Given the description of an element on the screen output the (x, y) to click on. 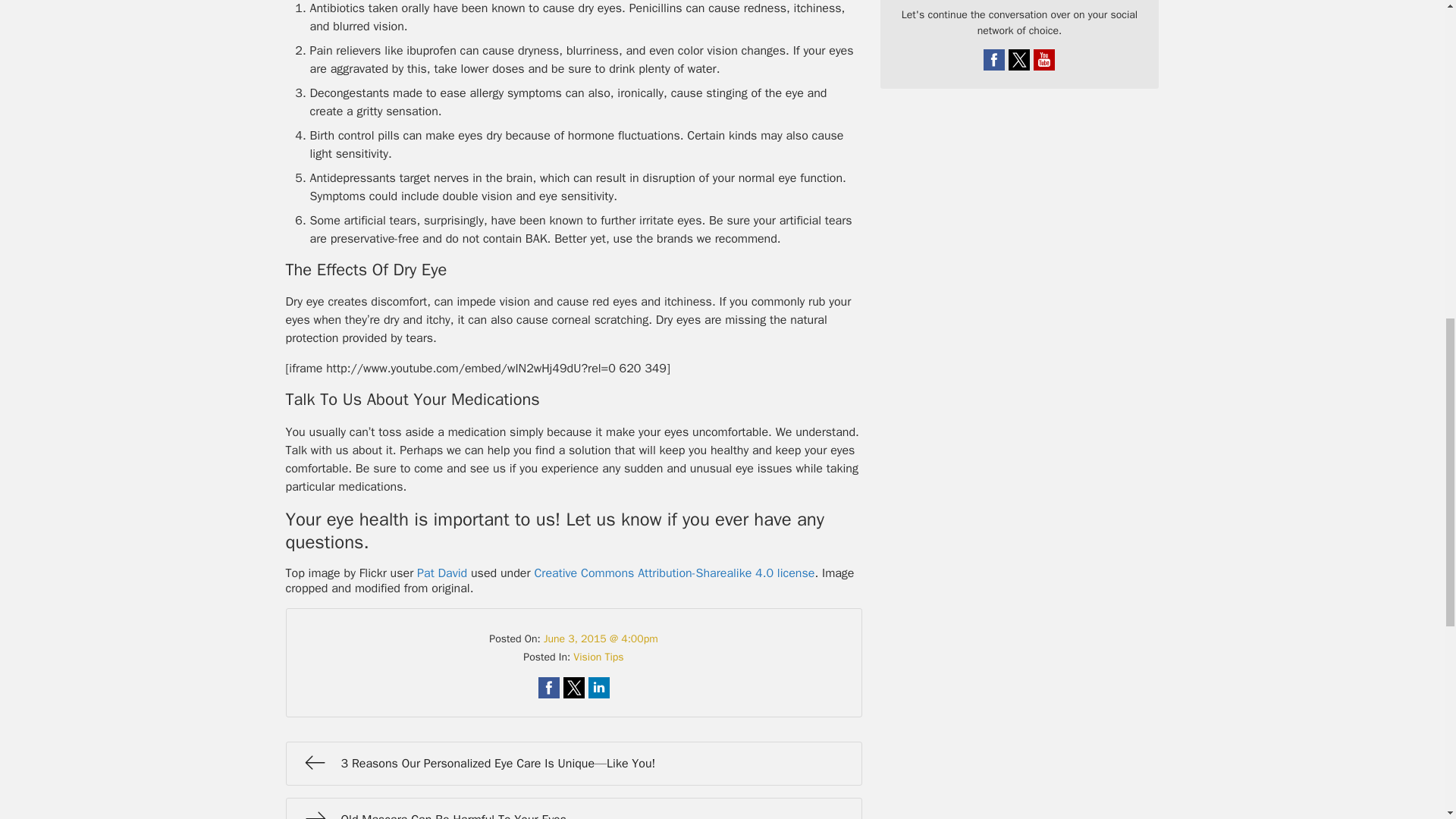
Share on Facebook (548, 687)
Share on LinkedIn (599, 687)
Watch us on YouTube (1043, 59)
Share on LinkedIn (599, 687)
Share on Twitter (572, 687)
Share on Twitter (572, 687)
Share on Facebook (548, 687)
Go to our Twitter Account (1019, 59)
Go to our Facebook Page (994, 59)
Old Mascara Can Be Harmful To Your Eyes (573, 808)
Vision Tips (598, 656)
Pat David (441, 572)
Creative Commons Attribution-Sharealike 4.0 license (673, 572)
